Given the description of an element on the screen output the (x, y) to click on. 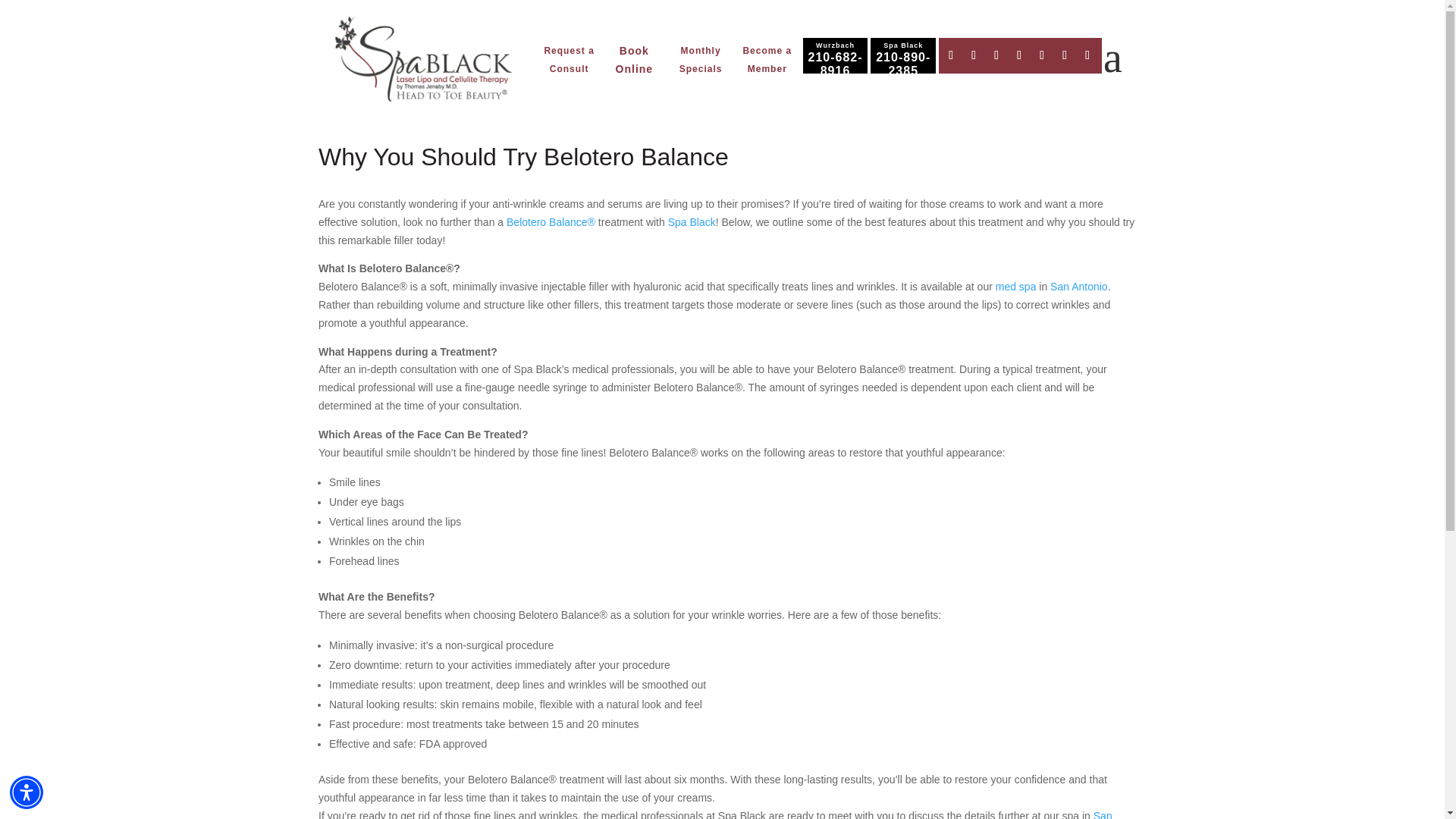
Follow on Youtube (1041, 55)
Follow on TikTok (1064, 55)
Accessibility Menu (26, 792)
210-682-8916 (834, 63)
Follow on X (972, 55)
Spa Black (423, 61)
Follow on Snapchat (1087, 55)
Follow on Pinterest (1018, 55)
Follow on Instagram (996, 55)
med spa (1015, 286)
Follow on Facebook (950, 55)
210-890-2385 (903, 63)
